Given the description of an element on the screen output the (x, y) to click on. 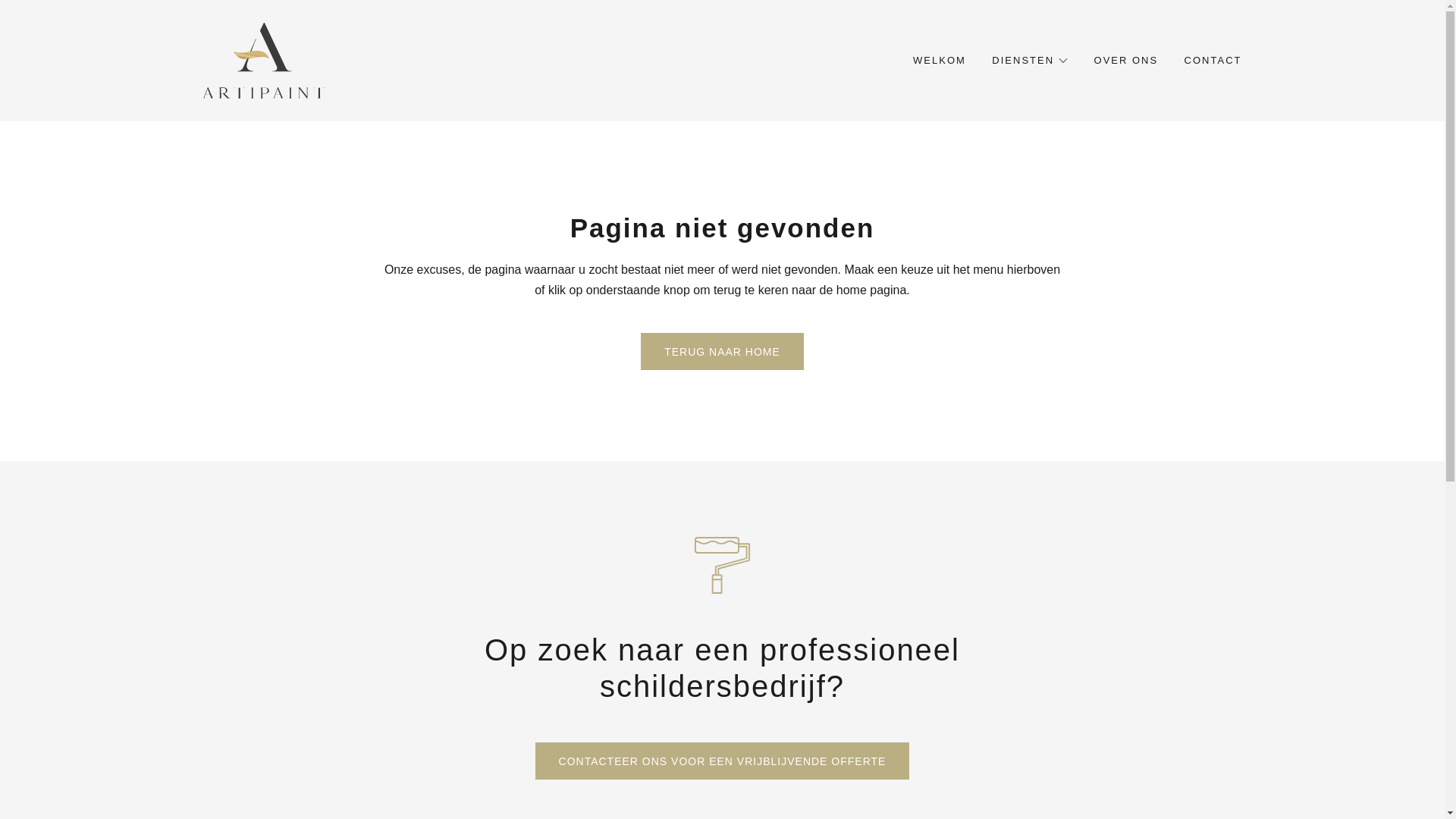
DIENSTEN Element type: text (1029, 60)
OVER ONS Element type: text (1126, 60)
WELKOM Element type: text (939, 60)
TERUG NAAR HOME Element type: text (721, 351)
CONTACT Element type: text (1213, 60)
CONTACTEER ONS VOOR EEN VRIJBLIJVENDE OFFERTE Element type: text (722, 760)
